Given the description of an element on the screen output the (x, y) to click on. 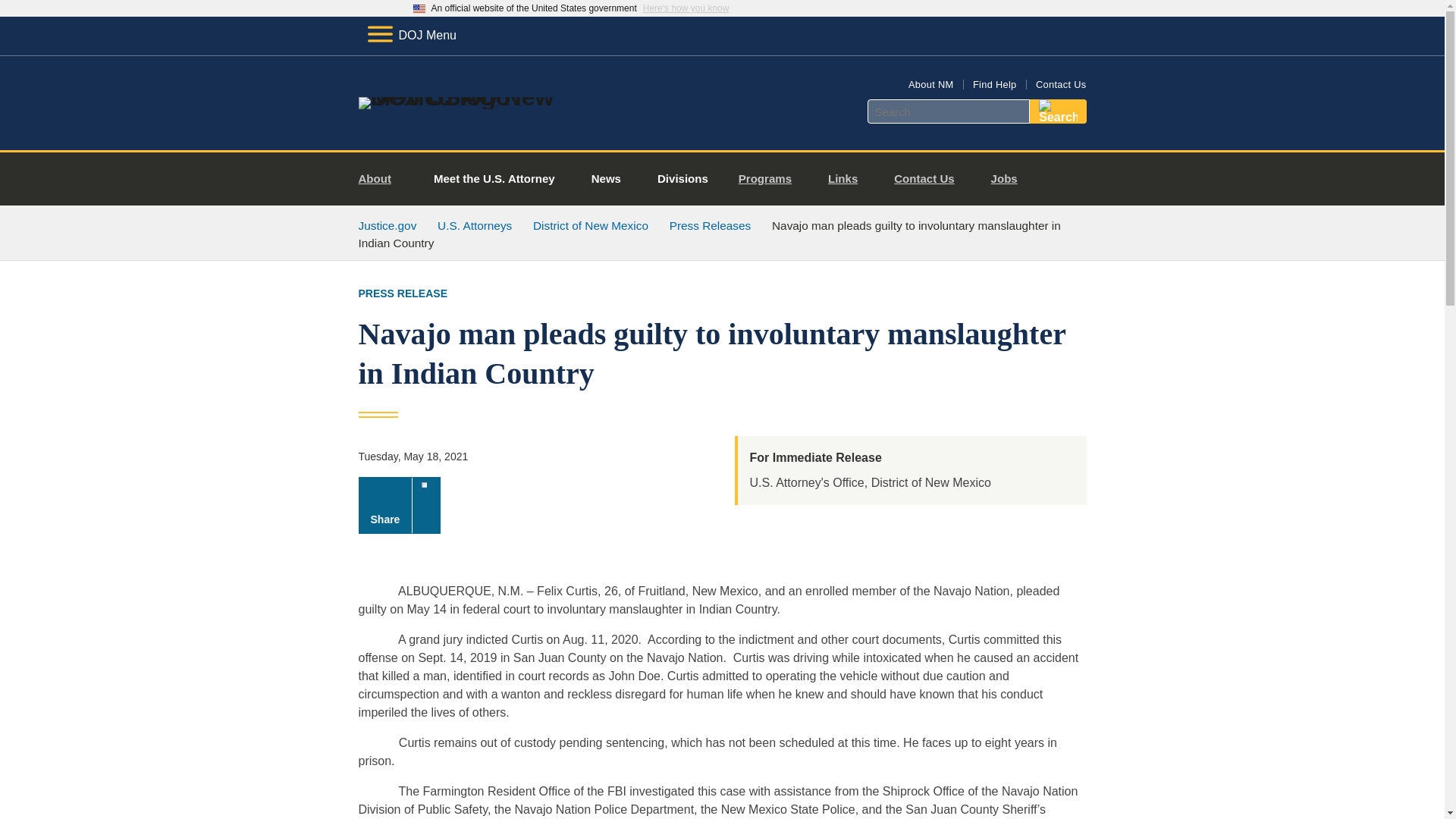
Here's how you know (686, 8)
Jobs (1010, 179)
Press Releases (710, 225)
About (380, 179)
DOJ Menu (411, 35)
About NM (930, 84)
Home (481, 96)
Justice.gov (387, 225)
Contact Us (930, 179)
News (606, 179)
Contact Us (1060, 84)
Divisions (682, 179)
Links (848, 179)
Find Help (994, 84)
Programs (770, 179)
